Given the description of an element on the screen output the (x, y) to click on. 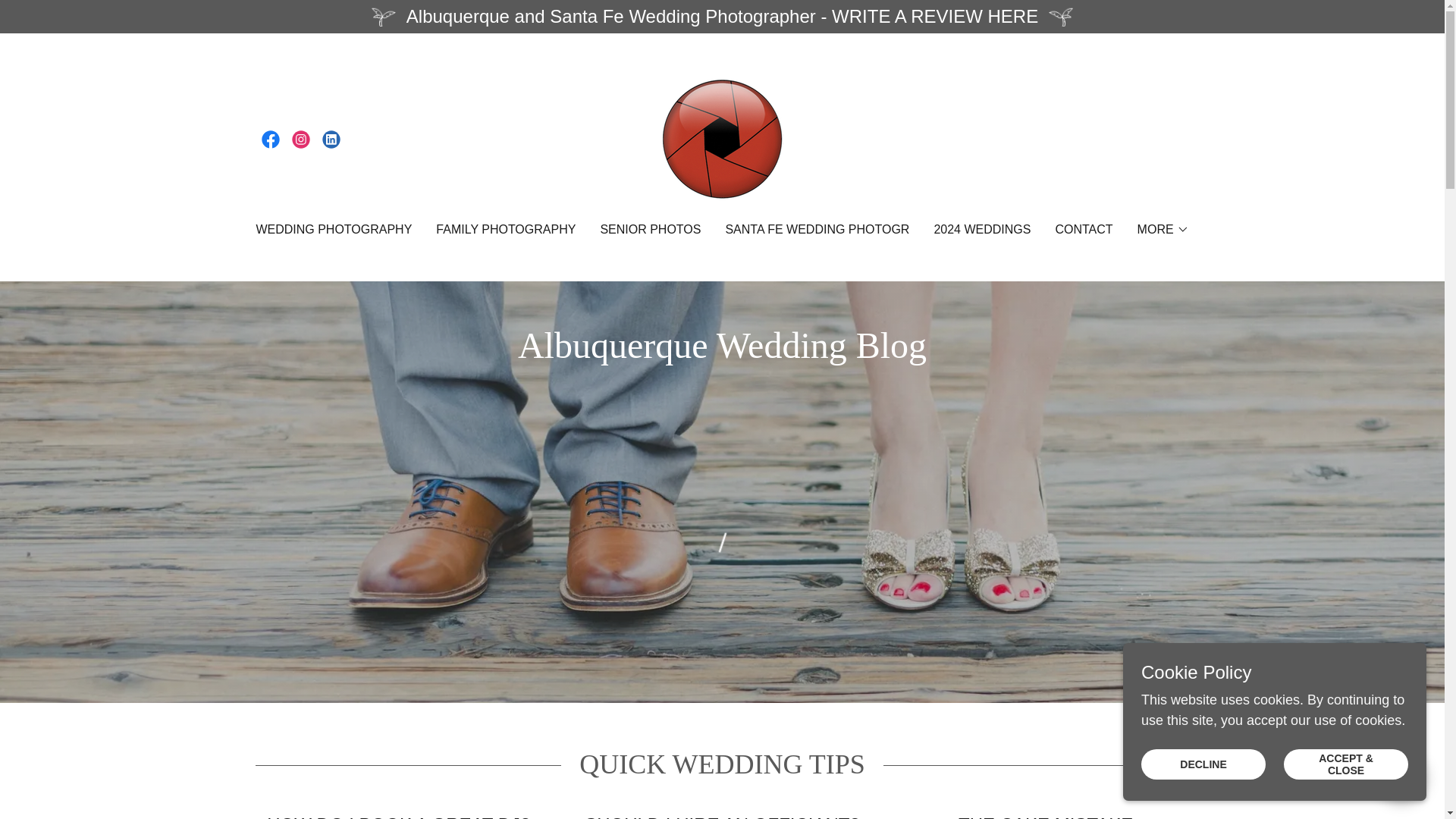
FAMILY PHOTOGRAPHY (504, 229)
SENIOR PHOTOS (649, 229)
WEDDING PHOTOGRAPHY (333, 229)
MORE (1163, 229)
SANTA FE WEDDING PHOTOGR (817, 229)
Natural Touch Photography (722, 137)
2024 WEDDINGS (981, 229)
CONTACT (1082, 229)
